Given the description of an element on the screen output the (x, y) to click on. 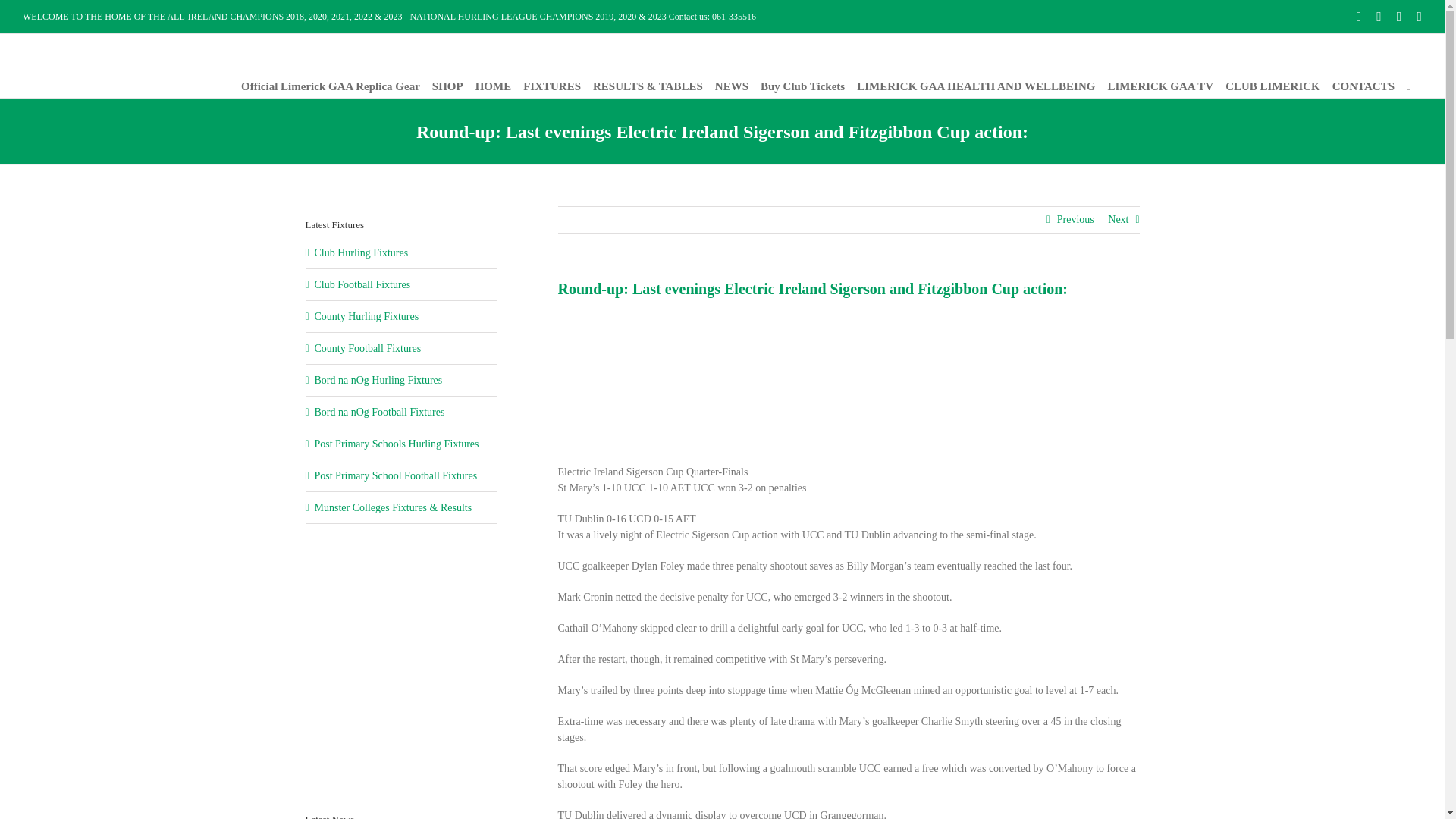
LIMERICK GAA HEALTH AND WELLBEING (975, 85)
FIXTURES (551, 85)
Official Limerick GAA Replica Gear (330, 85)
Buy Club Tickets (802, 85)
